Given the description of an element on the screen output the (x, y) to click on. 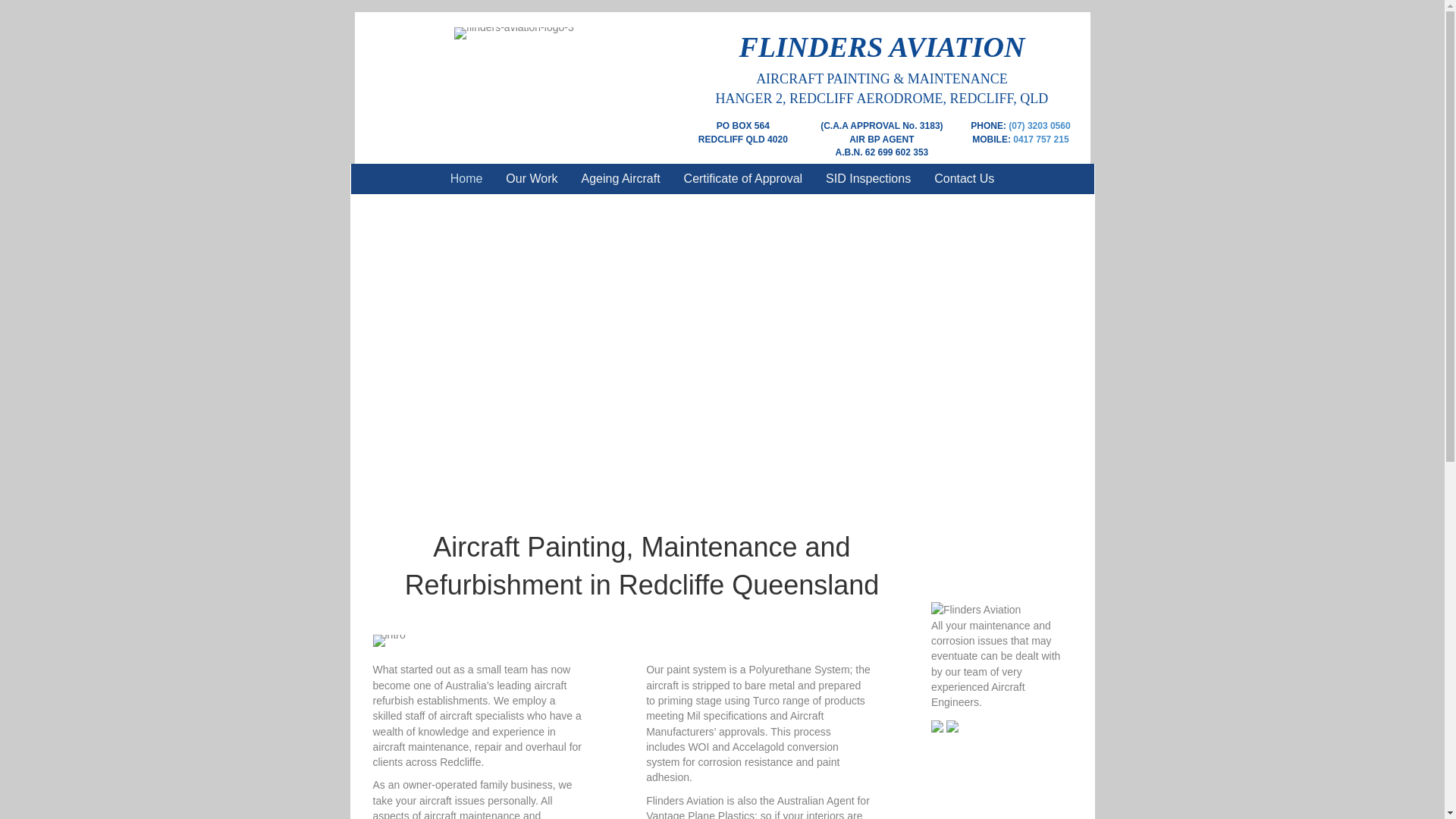
Home Element type: text (466, 178)
flinders-aviation-logo-3 Element type: hover (514, 33)
SID Inspections Element type: text (868, 178)
intro Element type: hover (389, 640)
Ageing Aircraft Element type: text (620, 178)
Certificate of Approval Element type: text (743, 178)
Our Work Element type: text (531, 178)
0417 757 215 Element type: text (1040, 139)
Contact Us Element type: text (963, 178)
(07) 3203 0560 Element type: text (1039, 125)
